Given the description of an element on the screen output the (x, y) to click on. 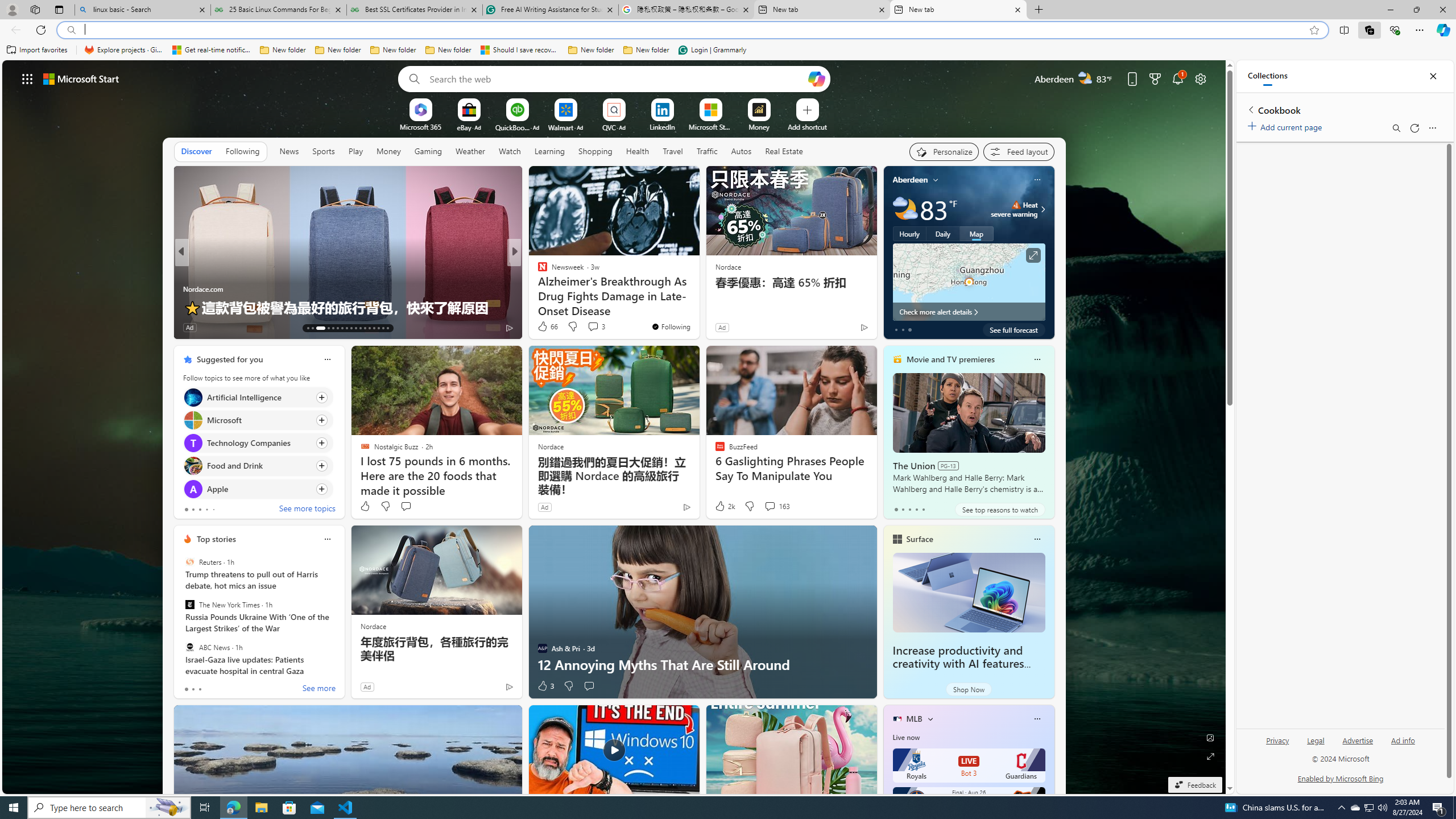
Top stories (215, 538)
20 Ways to Boost Your Protein Intake at Every Meal (697, 307)
AutomationID: tab-23 (360, 328)
Learning (549, 151)
Click to see more information (1033, 255)
oceanbluemarine (558, 288)
Shop Now (968, 689)
AutomationID: tab-28 (382, 328)
Sports (323, 151)
AutomationID: tab-22 (355, 328)
AutomationID: tab-24 (364, 328)
